Given the description of an element on the screen output the (x, y) to click on. 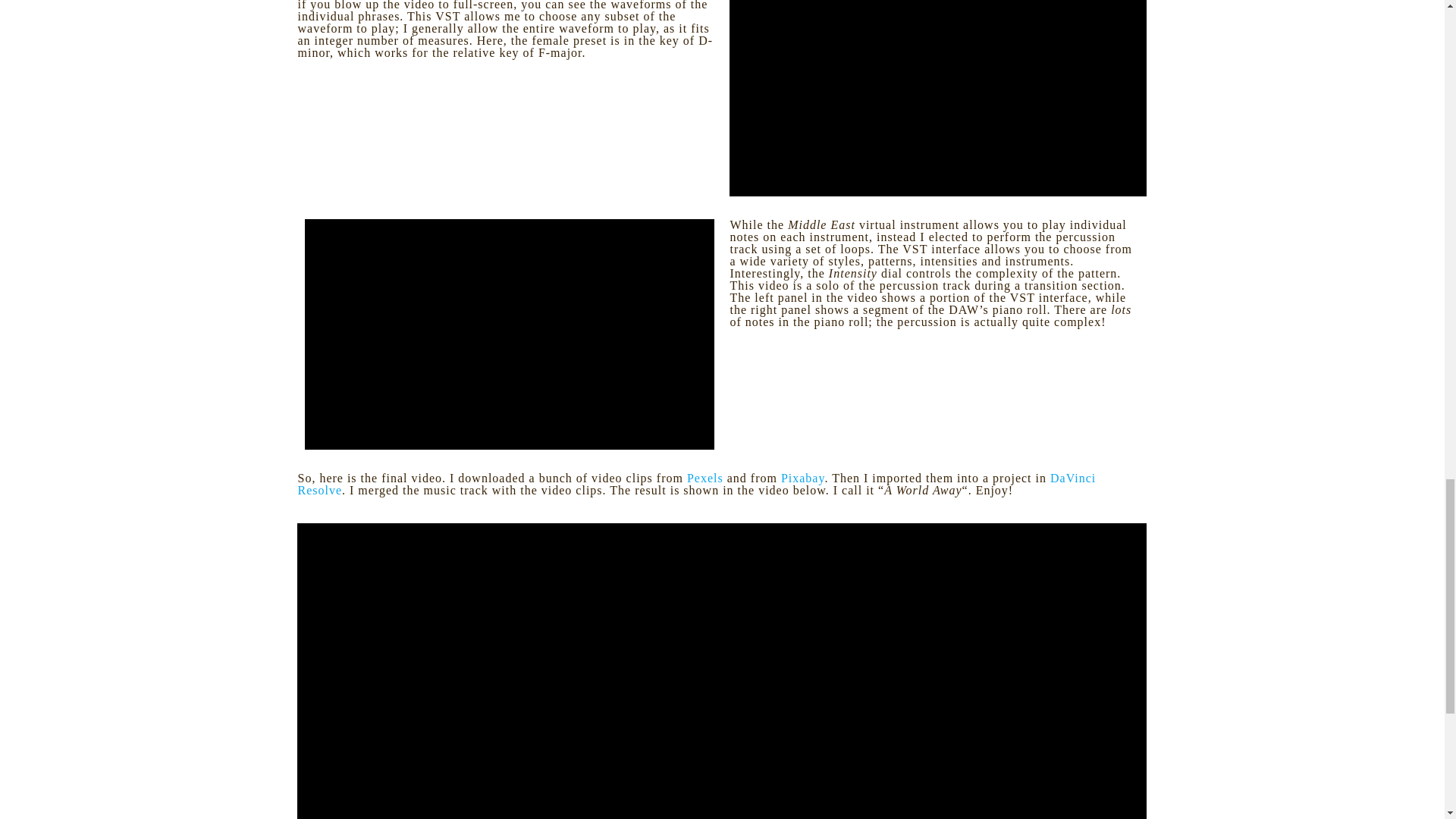
DaVinci Resolve (696, 483)
vimeo Video Player (509, 334)
Pexels (705, 477)
Pixabay (802, 477)
vimeo Video Player (938, 98)
